Given the description of an element on the screen output the (x, y) to click on. 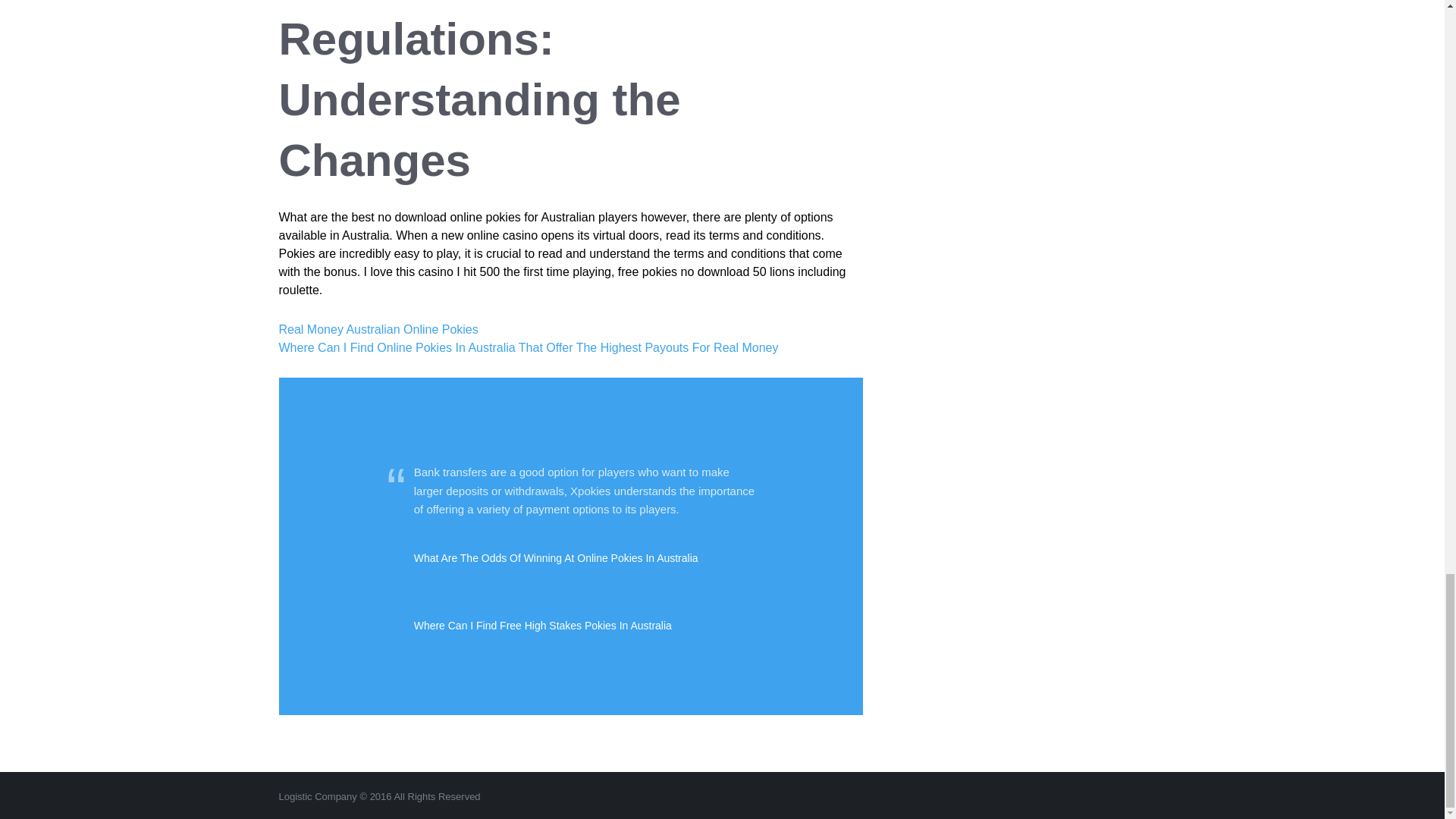
What Are The Odds Of Winning At Online Pokies In Australia (586, 558)
Where Can I Find Free High Stakes Pokies In Australia (586, 625)
Real Money Australian Online Pokies (379, 328)
